Given the description of an element on the screen output the (x, y) to click on. 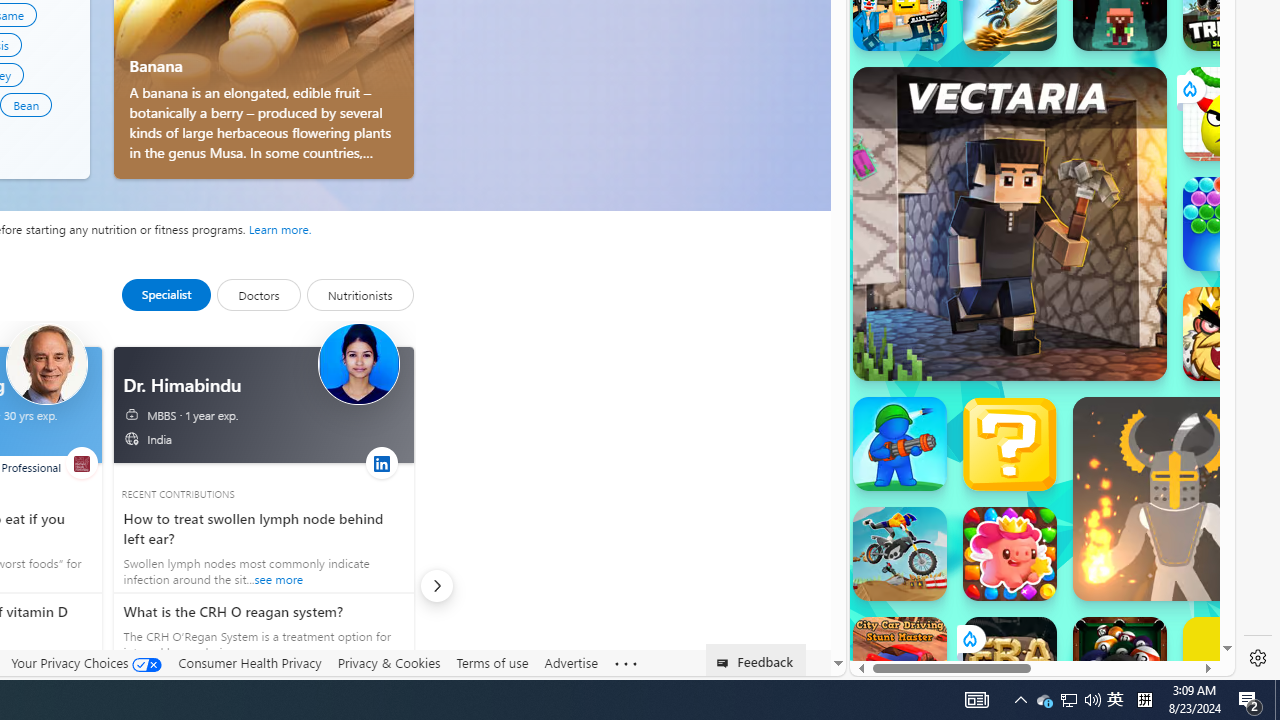
Match Arena (1009, 553)
Match Arena Match Arena (1009, 553)
Ragdoll Hit (1174, 498)
Class: vecIn (135, 443)
Combat Reloaded (1092, 200)
Learn more. (280, 228)
Like a King Like a King (1229, 333)
Harvard logo (80, 463)
Combat Reloaded (1090, 290)
Bubble Shooter (1229, 223)
